Given the description of an element on the screen output the (x, y) to click on. 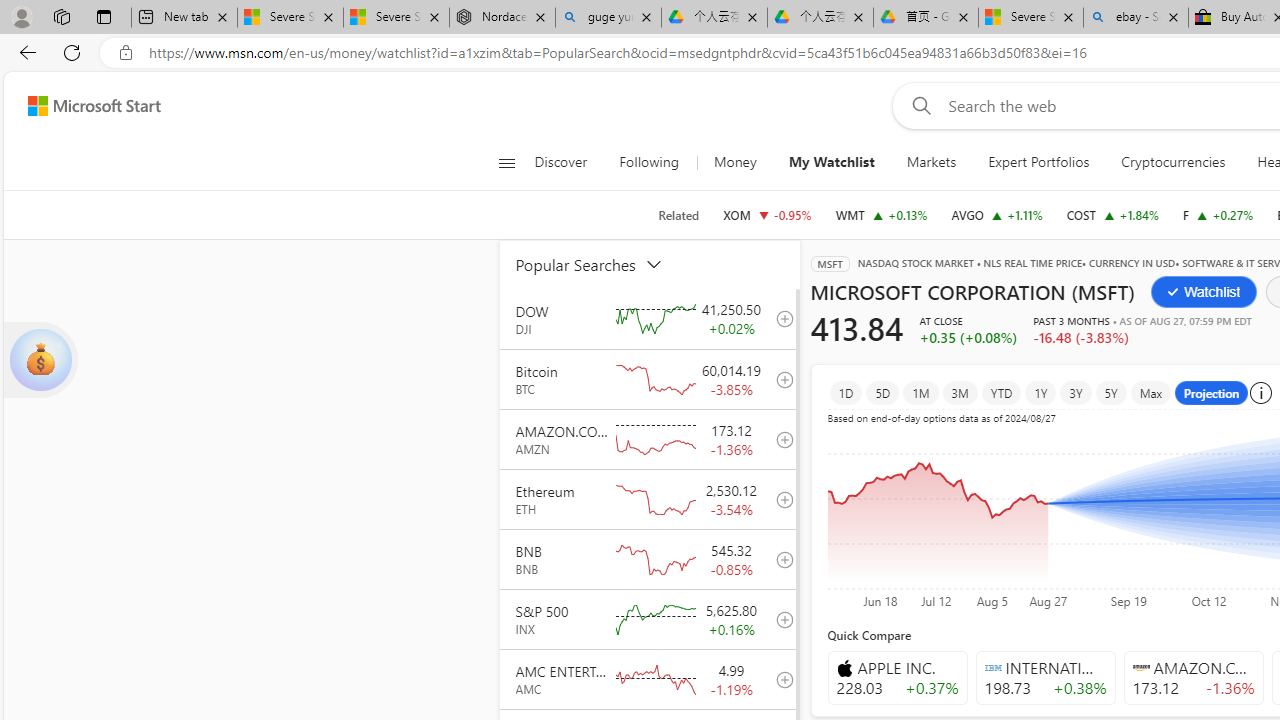
Class: button-glyph (505, 162)
AVGO Broadcom Inc. increase 161.39 +1.77 +1.11% (996, 214)
Money (734, 162)
3Y (1075, 392)
View site information (125, 53)
Skip to content (86, 105)
Projection (1212, 392)
New tab (183, 17)
5Y (1110, 392)
